Given the description of an element on the screen output the (x, y) to click on. 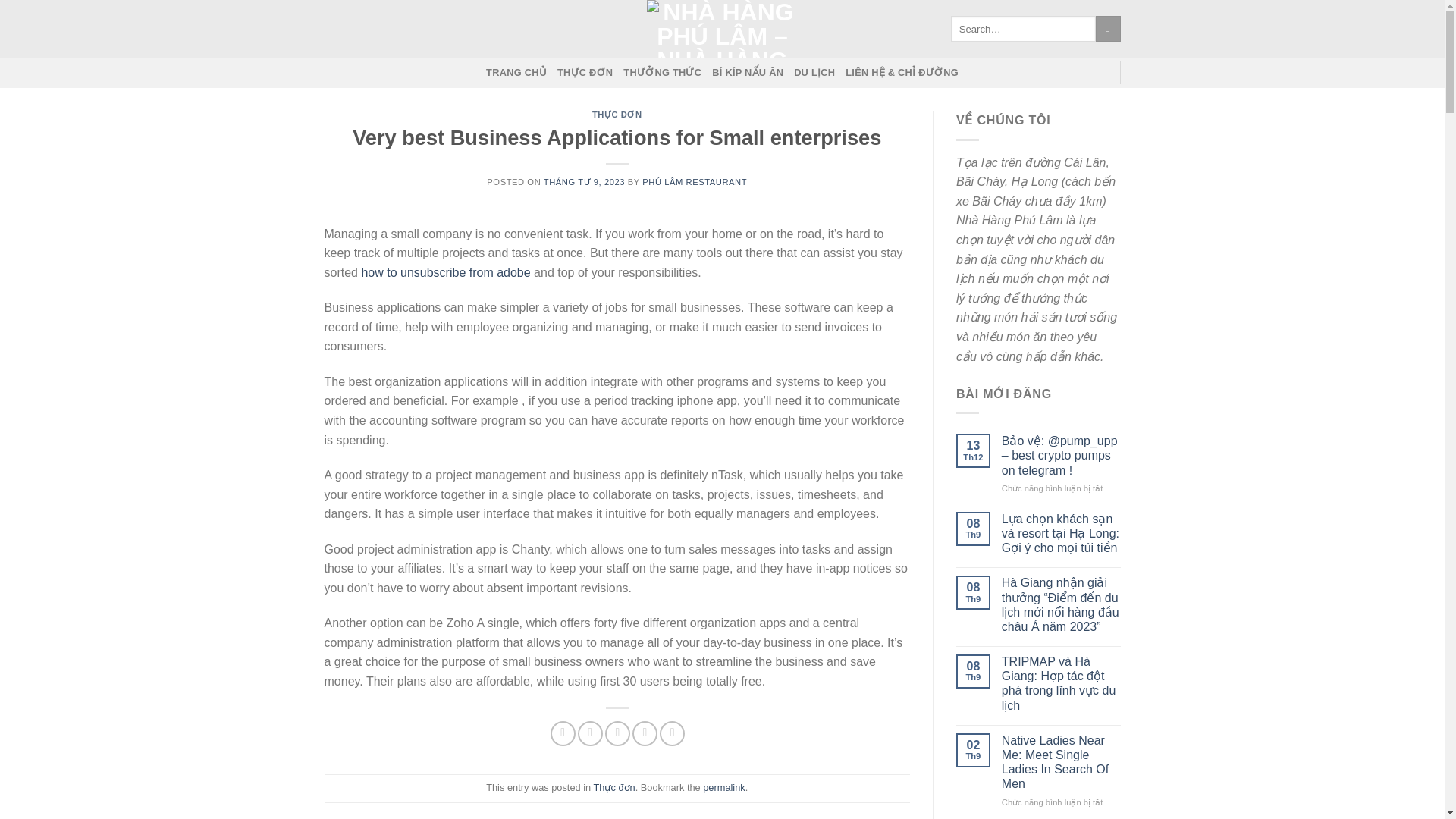
Email to a Friend (617, 733)
Share on LinkedIn (671, 733)
Pin on Pinterest (644, 733)
Share on Facebook (562, 733)
Share on Twitter (590, 733)
permalink (723, 787)
how to unsubscribe from adobe (445, 272)
Native Ladies Near Me: Meet Single Ladies In Search Of Men (1061, 762)
Native Ladies Near Me: Meet Single Ladies In Search Of Men (1061, 762)
